Given the description of an element on the screen output the (x, y) to click on. 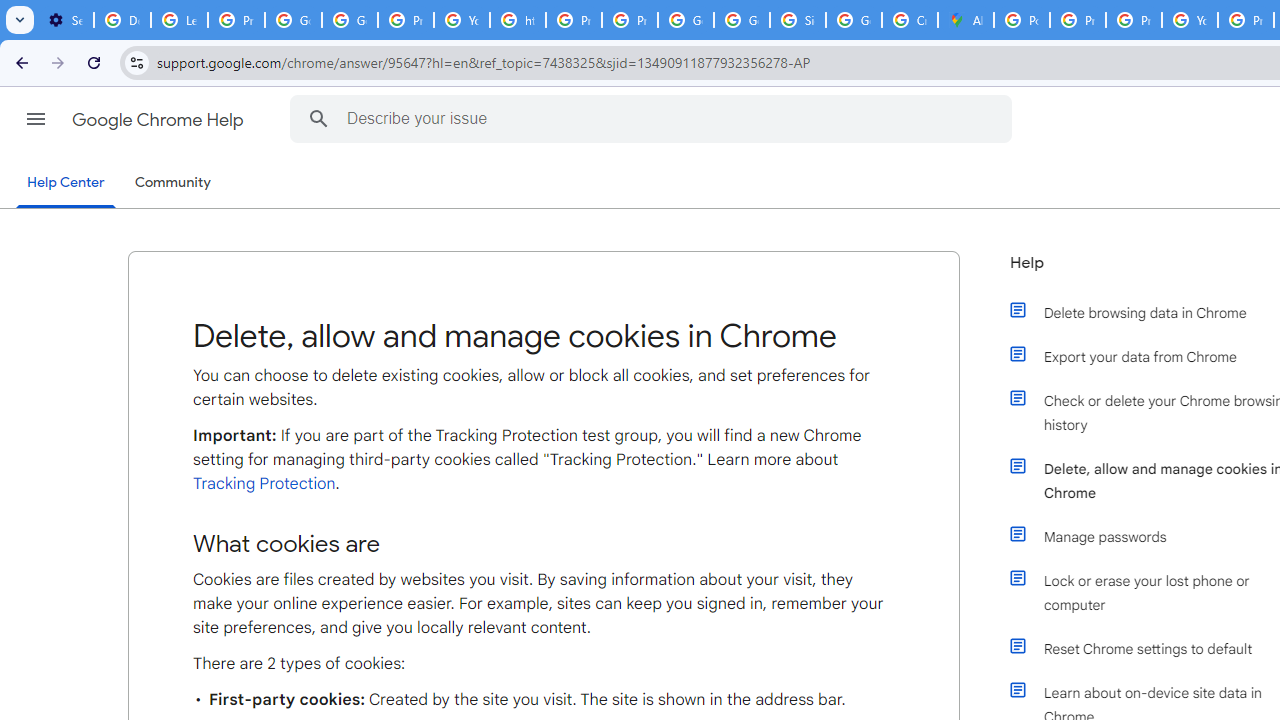
Search Help Center (318, 118)
Describe your issue (653, 118)
Community (171, 183)
Delete photos & videos - Computer - Google Photos Help (122, 20)
Sign in - Google Accounts (797, 20)
Policy Accountability and Transparency - Transparency Center (1021, 20)
Google Account Help (349, 20)
YouTube (461, 20)
YouTube (1190, 20)
Google Chrome Help (159, 119)
https://scholar.google.com/ (518, 20)
